Given the description of an element on the screen output the (x, y) to click on. 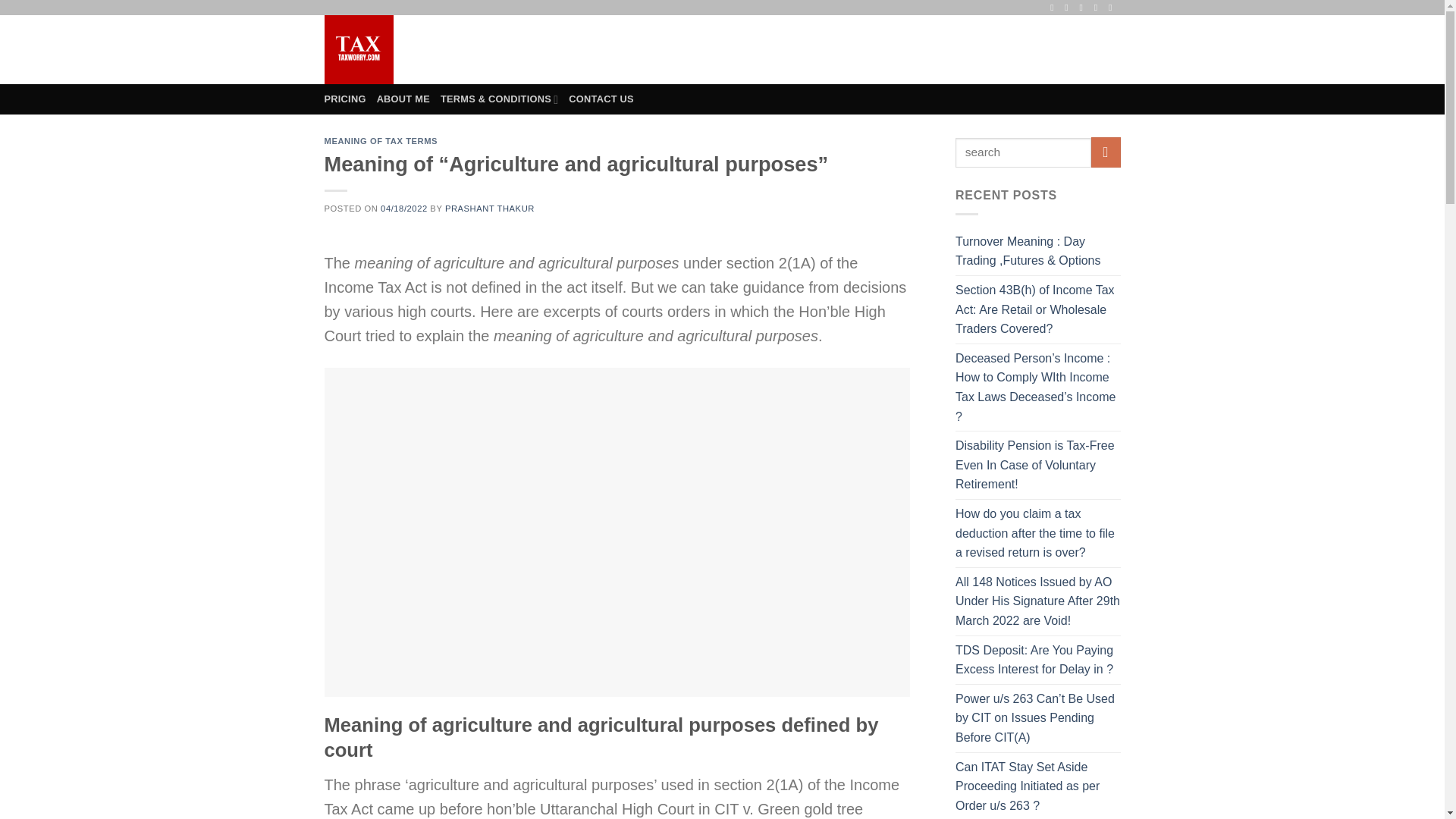
MEANING OF TAX TERMS (381, 140)
PRICING (345, 99)
TDS Deposit: Are You Paying Excess Interest for Delay in ? (1038, 659)
Cart (1074, 49)
ABOUT ME (403, 99)
PRASHANT THAKUR (489, 207)
taxworry.com - Every Article is A Tax Solution ! (386, 49)
